Given the description of an element on the screen output the (x, y) to click on. 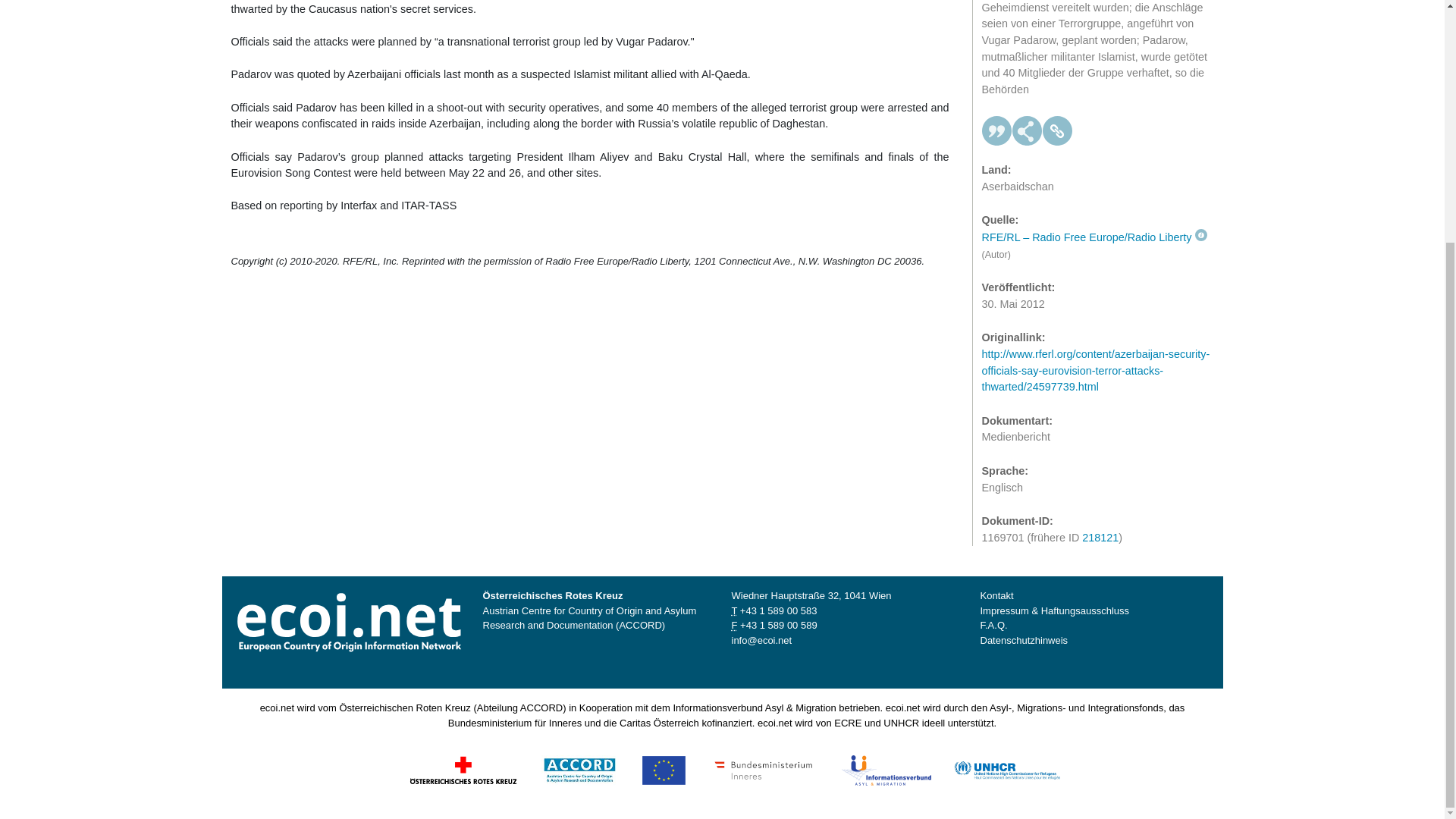
Datenschutzhinweis (1023, 640)
Fax (777, 624)
Telefon (777, 610)
Quellenbeschreibung lesen (1094, 224)
Permalink (1056, 119)
UNHCR - The UN Refugee Agency (1006, 769)
Kontakt (996, 595)
F.A.Q. (993, 624)
Zitieren als (996, 119)
